Given the description of an element on the screen output the (x, y) to click on. 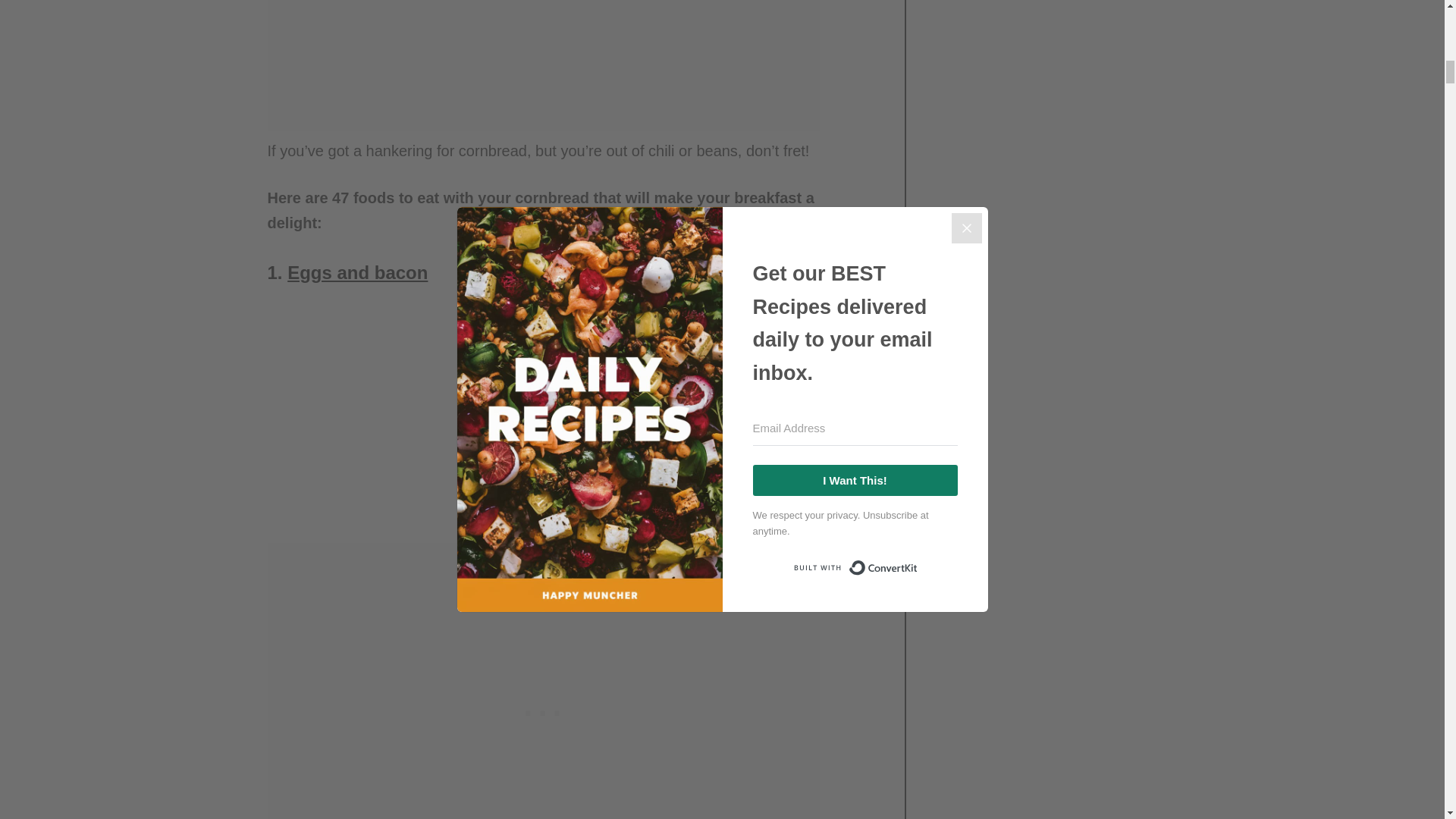
Eggs and bacon (357, 272)
PERFECT BACON AND SCRAMBLED EGGS (478, 415)
